Given the description of an element on the screen output the (x, y) to click on. 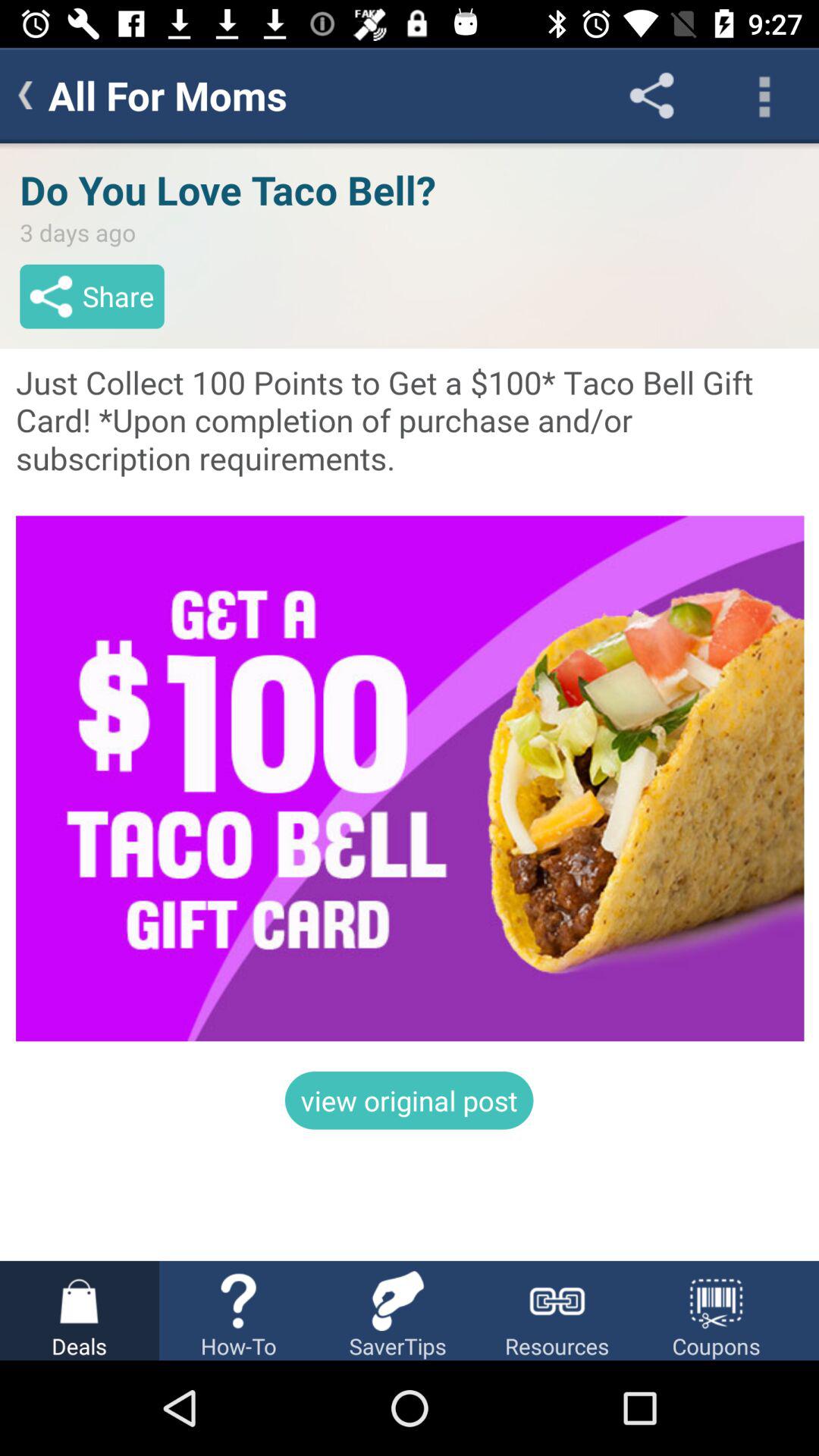
choose item below the all for moms icon (409, 701)
